Given the description of an element on the screen output the (x, y) to click on. 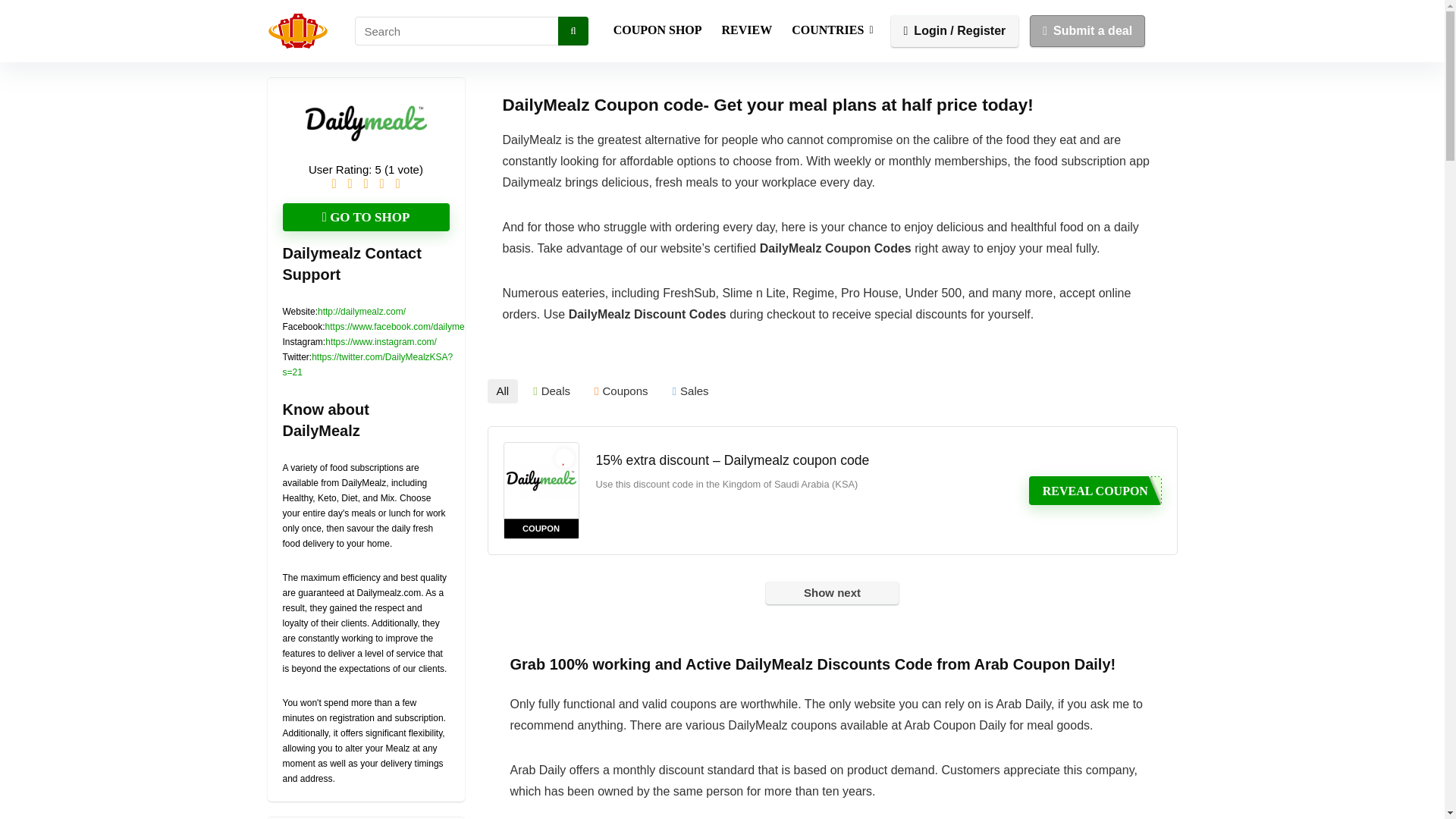
COUNTRIES (831, 30)
GO TO SHOP (365, 216)
COUPON SHOP (657, 30)
REVIEW (747, 30)
Submit a deal (1086, 30)
